Given the description of an element on the screen output the (x, y) to click on. 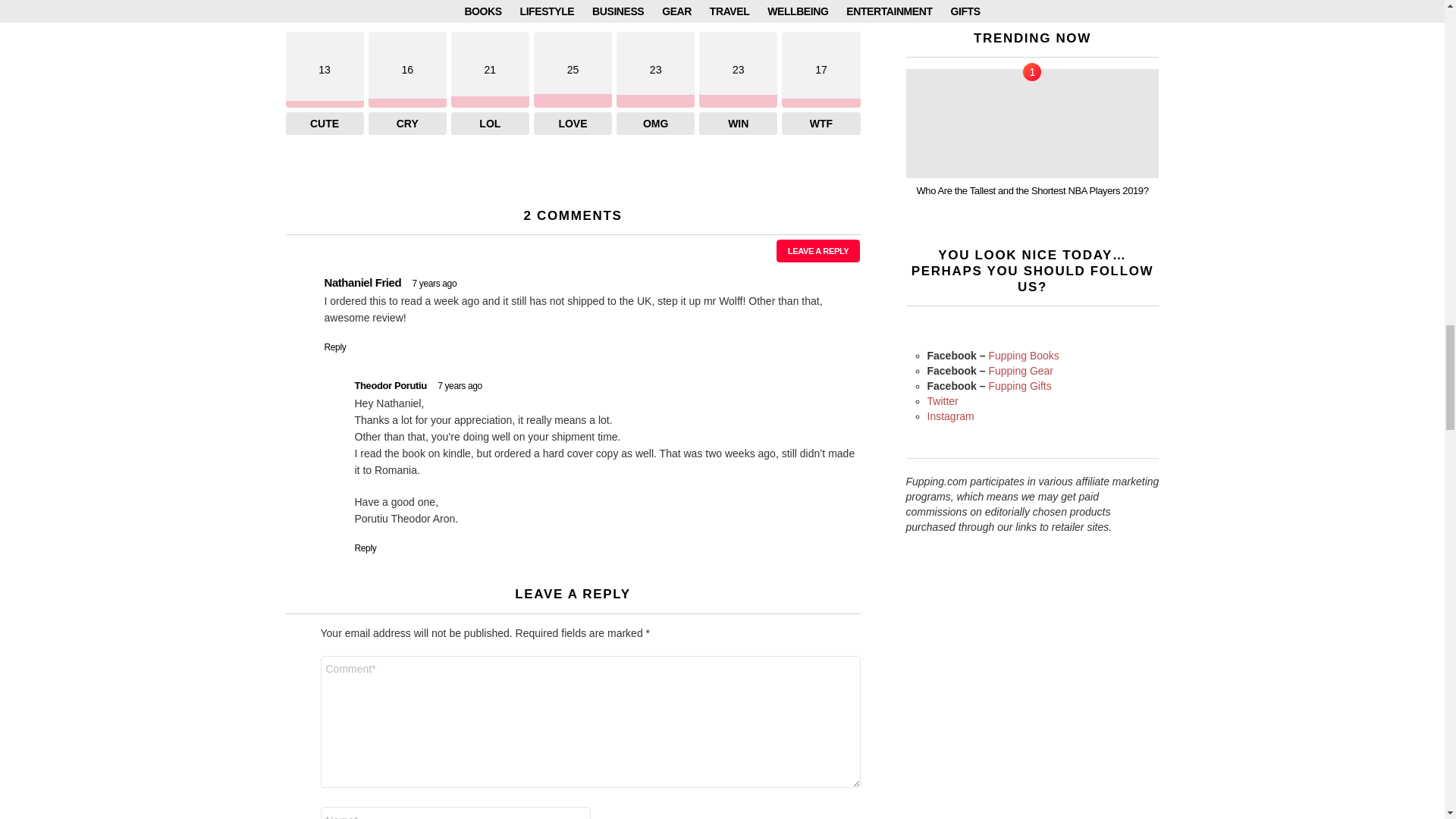
January 21, 2018 at 3:27 pm (459, 385)
January 21, 2018 at 7:00 am (434, 283)
